Given the description of an element on the screen output the (x, y) to click on. 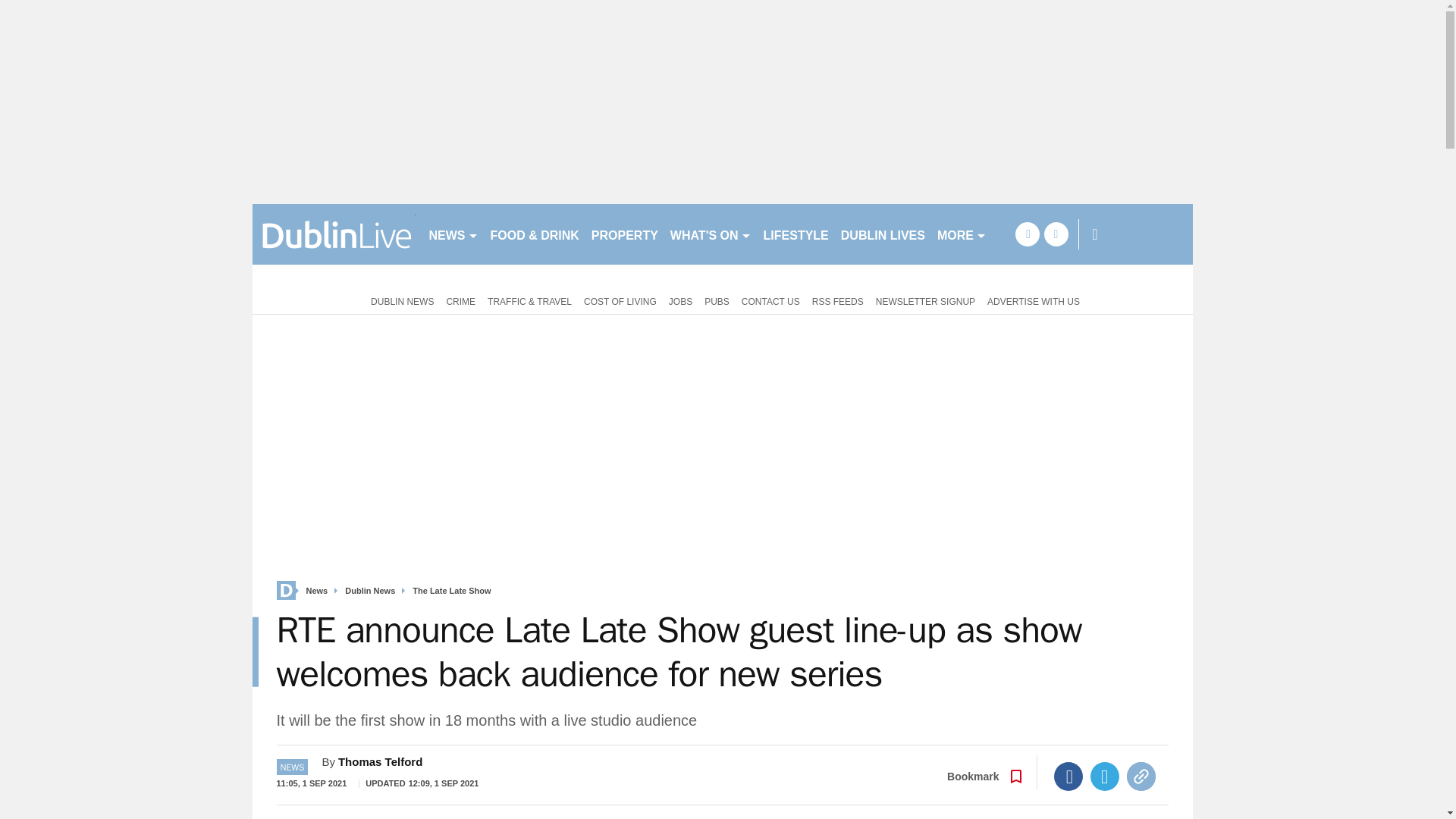
Facebook (1068, 776)
DUBLIN LIVES (882, 233)
WHAT'S ON (710, 233)
twitter (1055, 233)
dublinlive (332, 233)
PROPERTY (624, 233)
Twitter (1104, 776)
MORE (961, 233)
LIFESTYLE (795, 233)
facebook (1026, 233)
NEWS (453, 233)
